Given the description of an element on the screen output the (x, y) to click on. 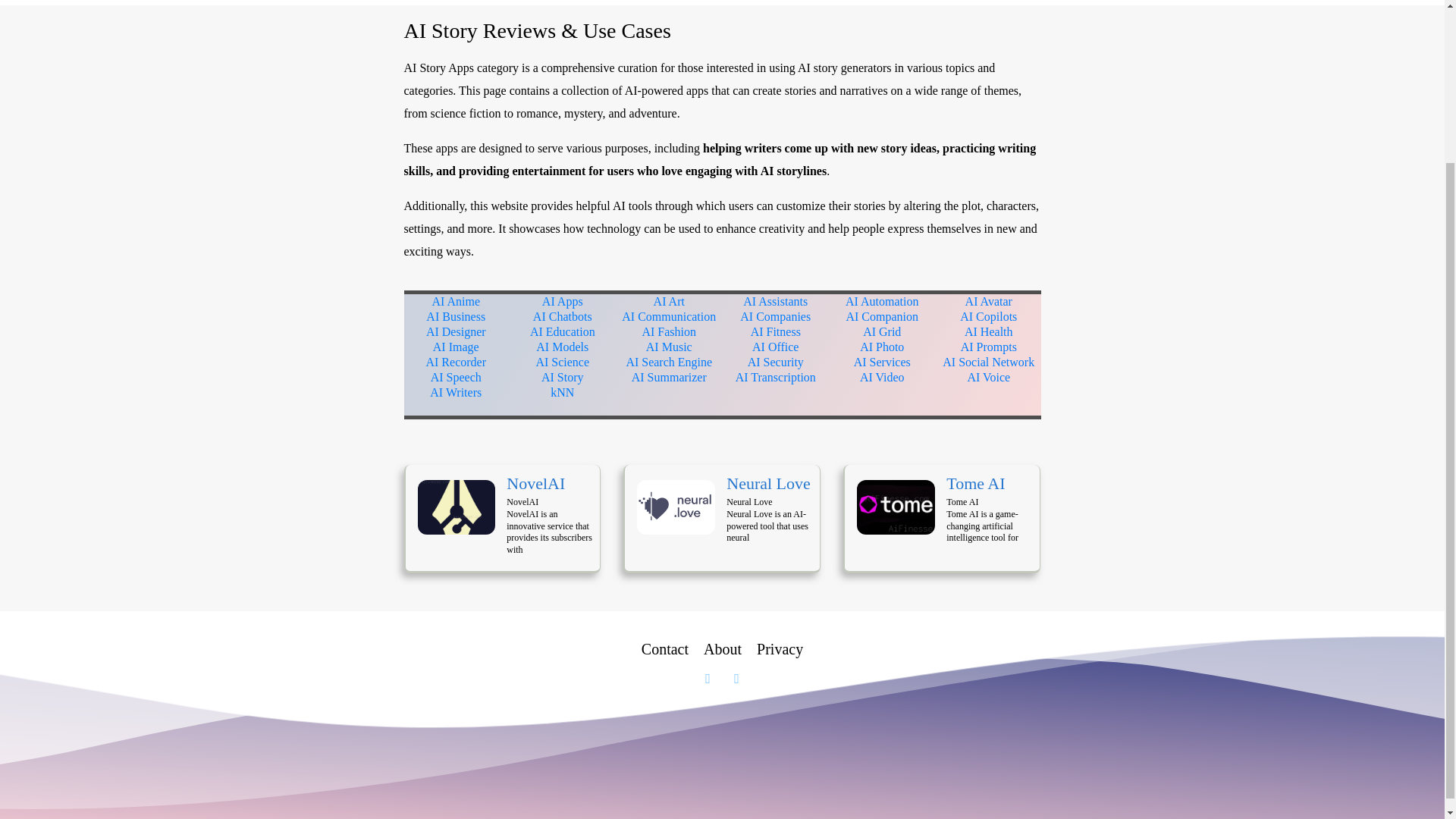
AI Photo (882, 346)
AI Science (562, 361)
AI Search Engine (668, 361)
AI Avatar (988, 300)
AI Companion (881, 316)
AI Anime (455, 300)
AI Chatbots (562, 316)
AI Art (668, 300)
AI Health (988, 331)
AI Companies (774, 316)
AI Models (561, 346)
AI Copilots (987, 316)
AI Designer (456, 331)
AI Office (774, 346)
AI Prompts (988, 346)
